Given the description of an element on the screen output the (x, y) to click on. 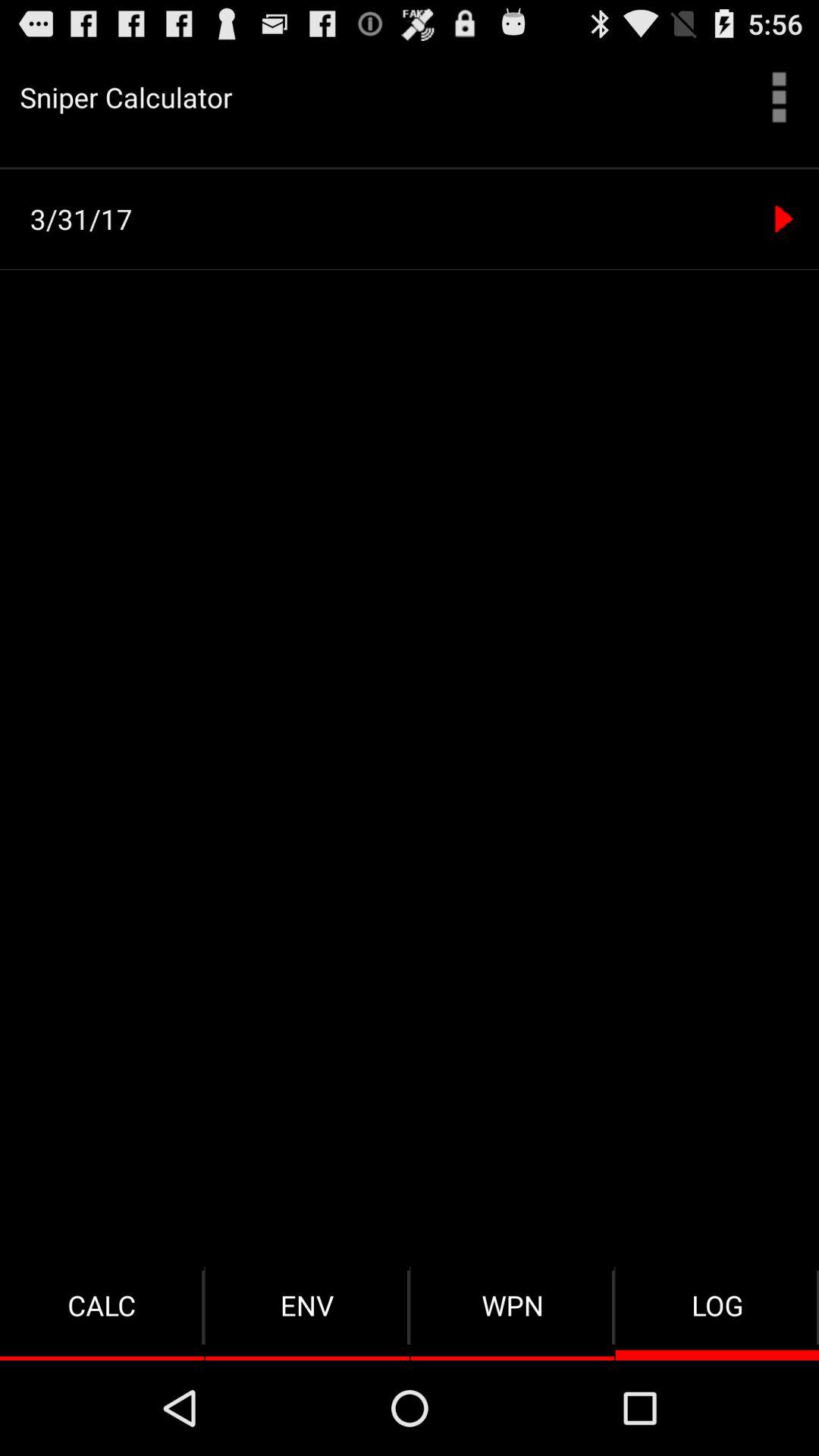
tap icon at the top right corner (779, 97)
